Given the description of an element on the screen output the (x, y) to click on. 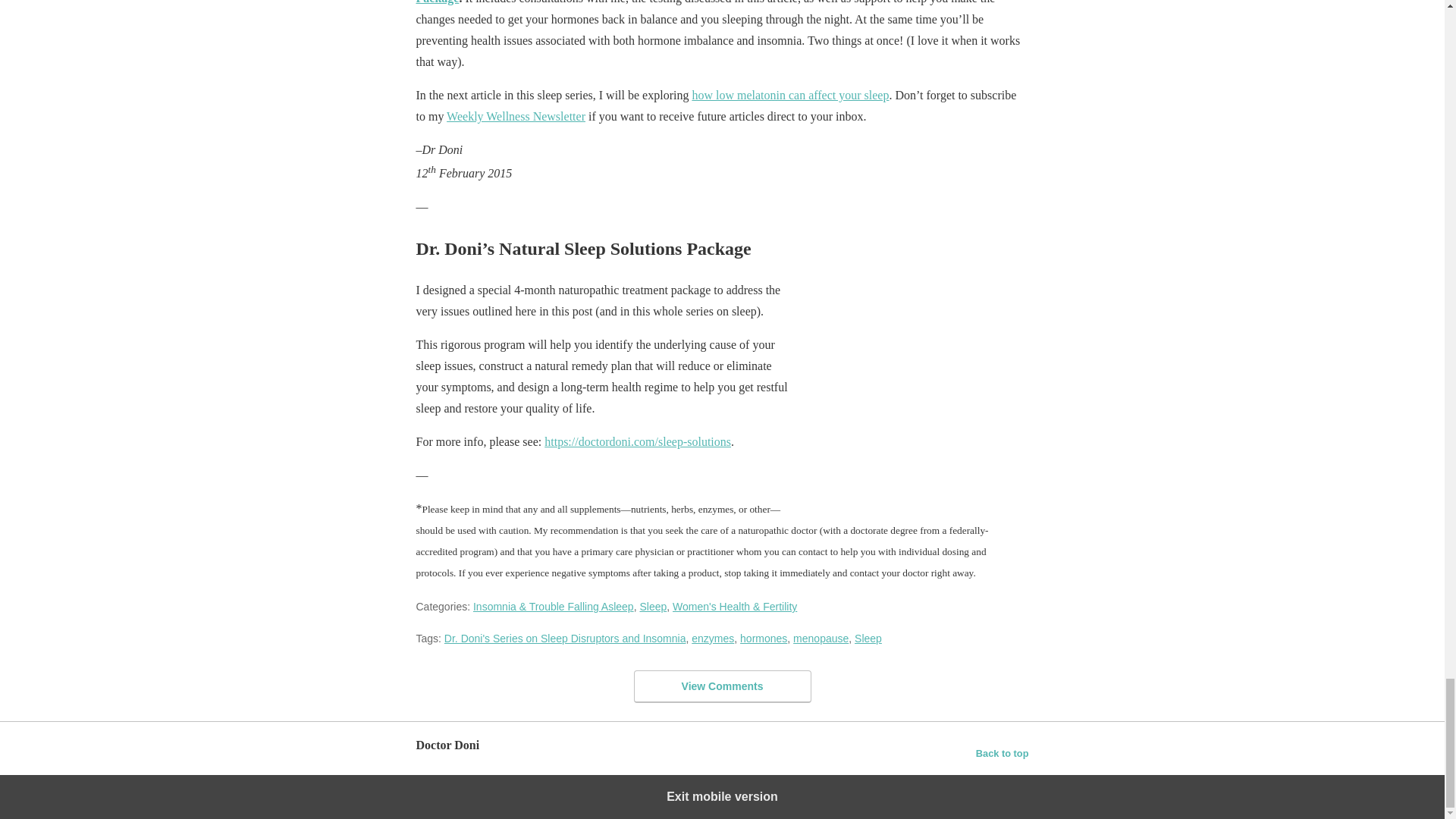
Sleep (868, 638)
How Low Melatonin Can Affect Your Sleep (789, 94)
hormones (763, 638)
Back to top (1002, 753)
menopause (820, 638)
enzymes (712, 638)
how low melatonin can affect your sleep (789, 94)
Dr. Doni's Series on Sleep Disruptors and Insomnia (564, 638)
View Comments (721, 686)
